Given the description of an element on the screen output the (x, y) to click on. 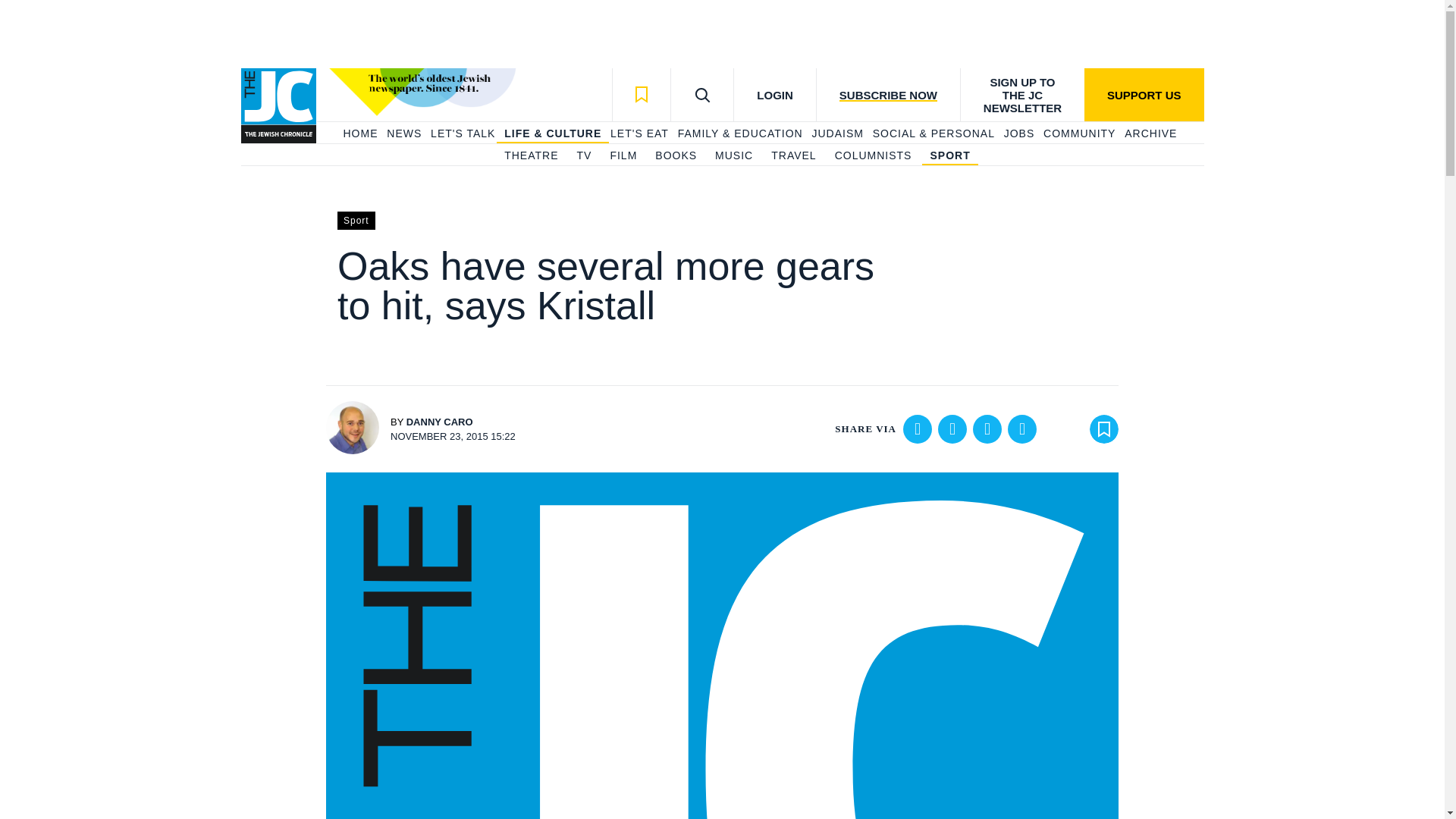
JOBS (1019, 133)
COMMUNITY (1079, 133)
HOME (359, 133)
BOOKS (676, 155)
SIGN UP TO THE JC NEWSLETTER (1021, 94)
SUBSCRIBE NOW (887, 94)
COLUMNISTS (873, 155)
TRAVEL (793, 155)
NEWS (404, 133)
LOGIN (774, 94)
